Given the description of an element on the screen output the (x, y) to click on. 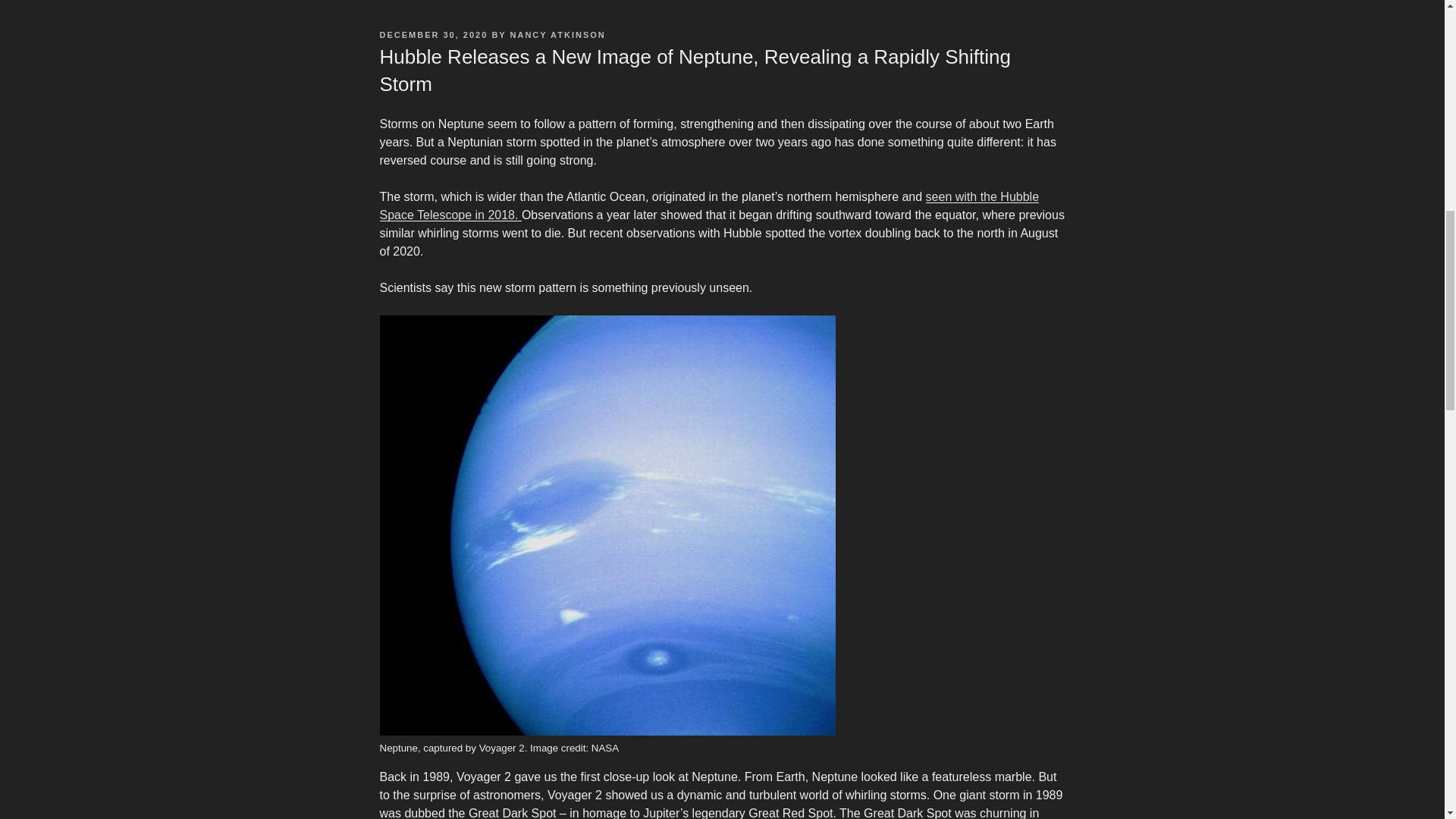
DECEMBER 30, 2020 (432, 34)
seen with the Hubble Space Telescope in 2018. (708, 205)
NANCY ATKINSON (558, 34)
